Given the description of an element on the screen output the (x, y) to click on. 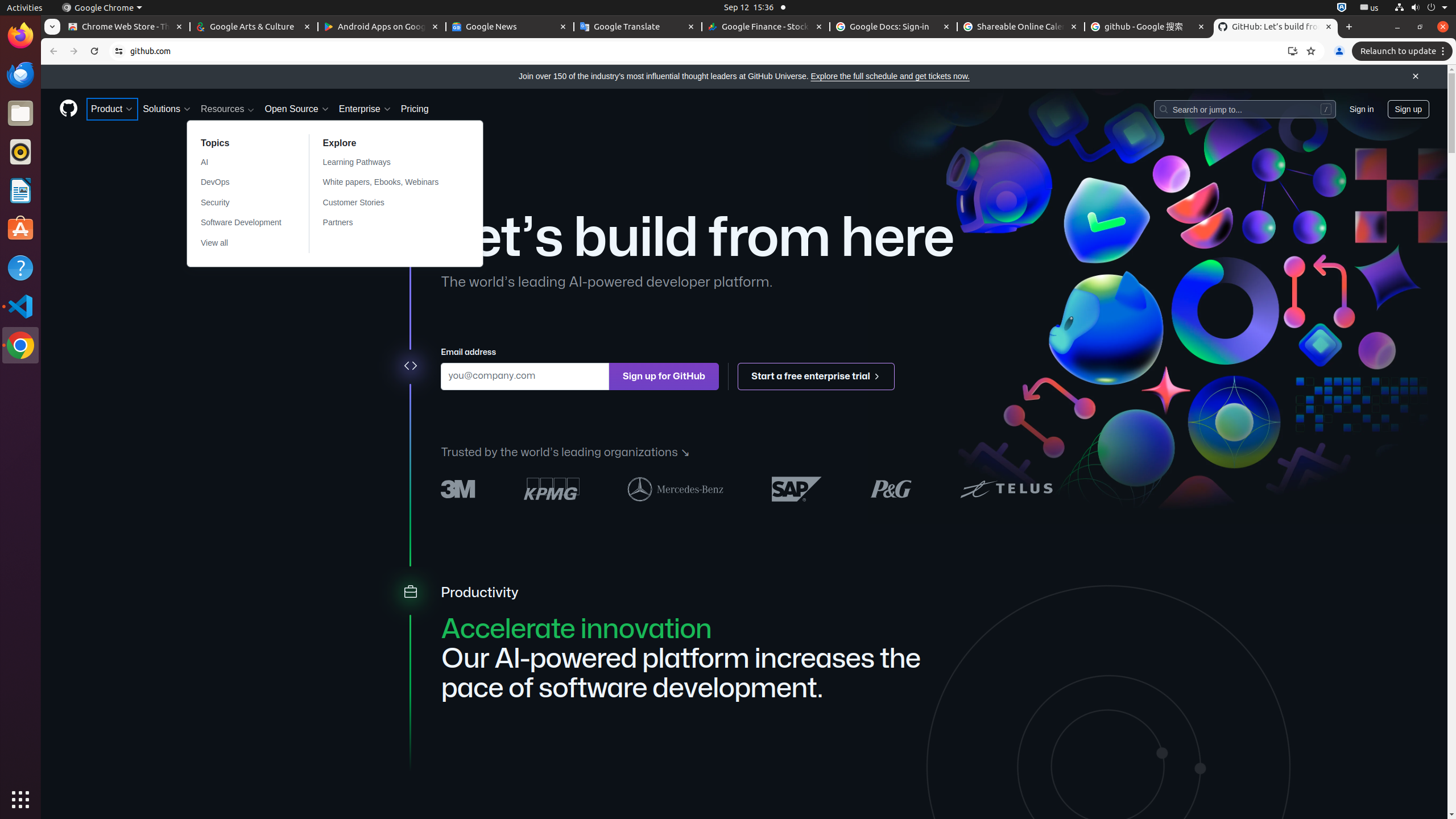
Back Element type: push-button (51, 50)
Resources Element type: push-button (227, 108)
White papers, Ebooks, Webinars Element type: link (387, 182)
Skip to content Element type: link (40, 64)
Reload Element type: push-button (94, 50)
